Given the description of an element on the screen output the (x, y) to click on. 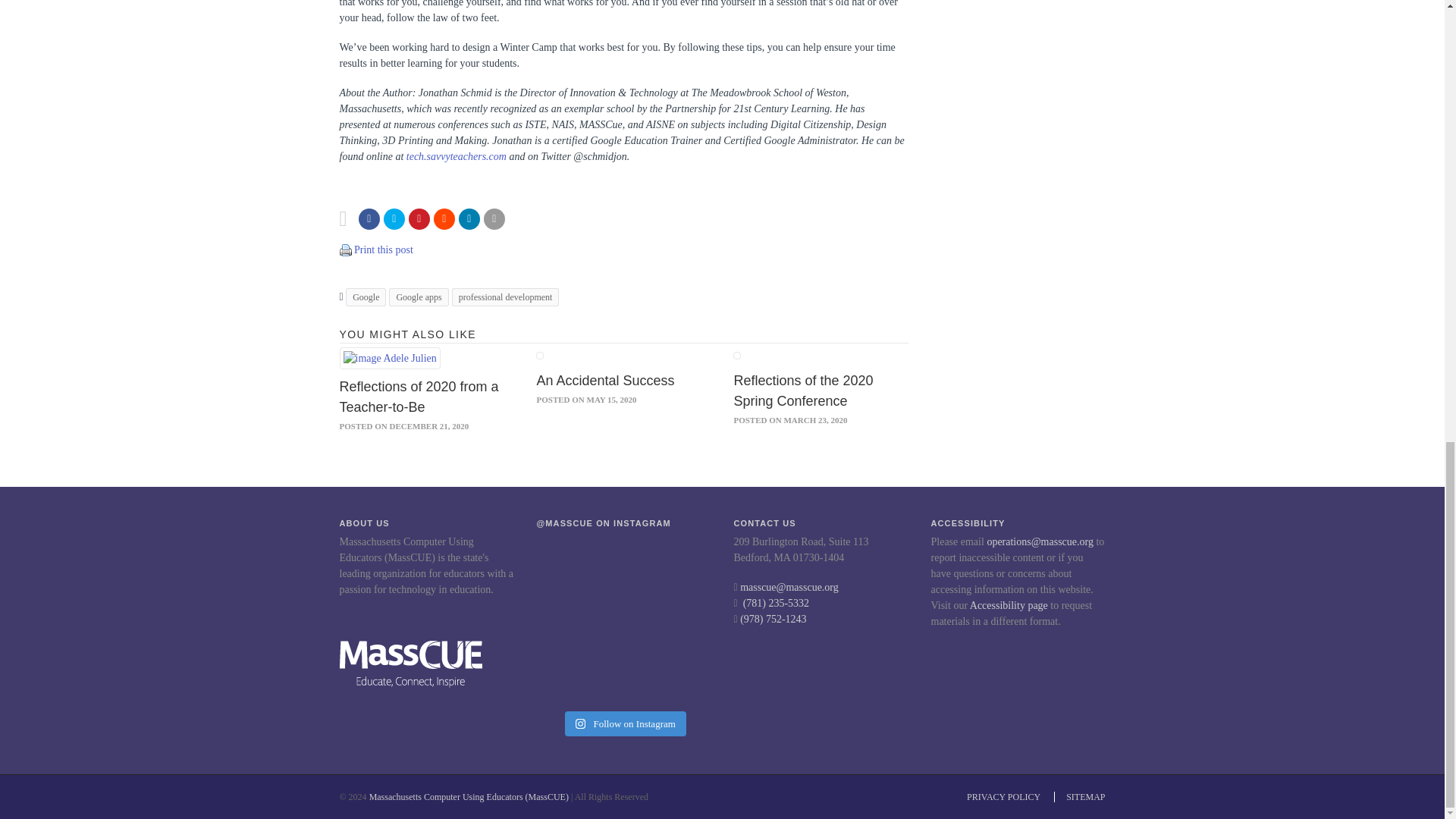
Submit to Reddit (443, 219)
Print this post (345, 250)
Print this post (345, 248)
Pin it (419, 219)
Email (494, 219)
Tweet (394, 219)
Print this post (383, 248)
Share on Facebook (369, 219)
Share on Linkedin (469, 219)
